Given the description of an element on the screen output the (x, y) to click on. 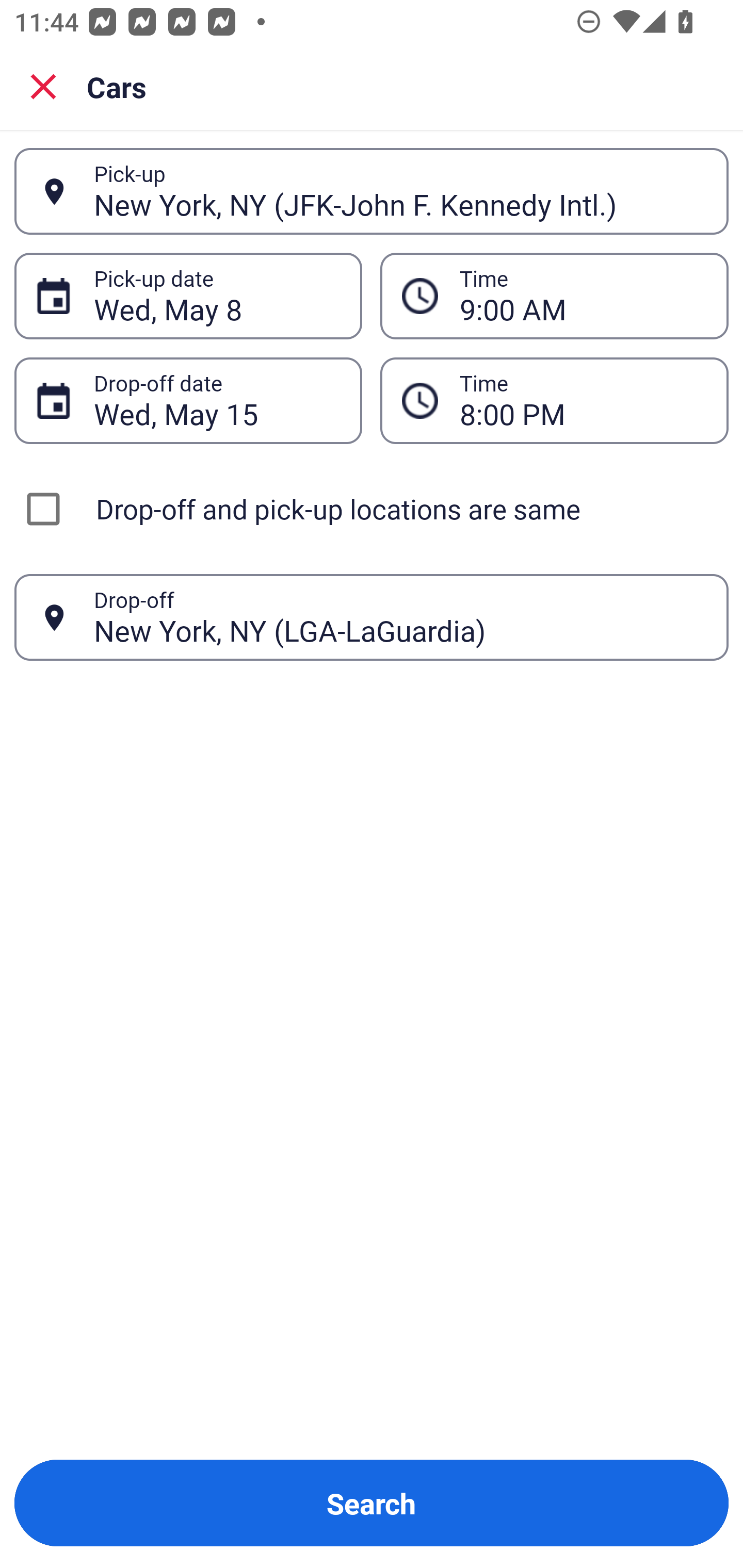
Close search screen (43, 86)
New York, NY (JFK-John F. Kennedy Intl.) Pick-up (371, 191)
New York, NY (JFK-John F. Kennedy Intl.) (399, 191)
Wed, May 8 Pick-up date (188, 295)
9:00 AM (554, 295)
Wed, May 8 (216, 296)
9:00 AM (582, 296)
Wed, May 15 Drop-off date (188, 400)
8:00 PM (554, 400)
Wed, May 15 (216, 400)
8:00 PM (582, 400)
Drop-off and pick-up locations are same (371, 508)
New York, NY (LGA-LaGuardia) Drop-off (371, 616)
New York, NY (LGA-LaGuardia) (399, 616)
Search Button Search (371, 1502)
